Given the description of an element on the screen output the (x, y) to click on. 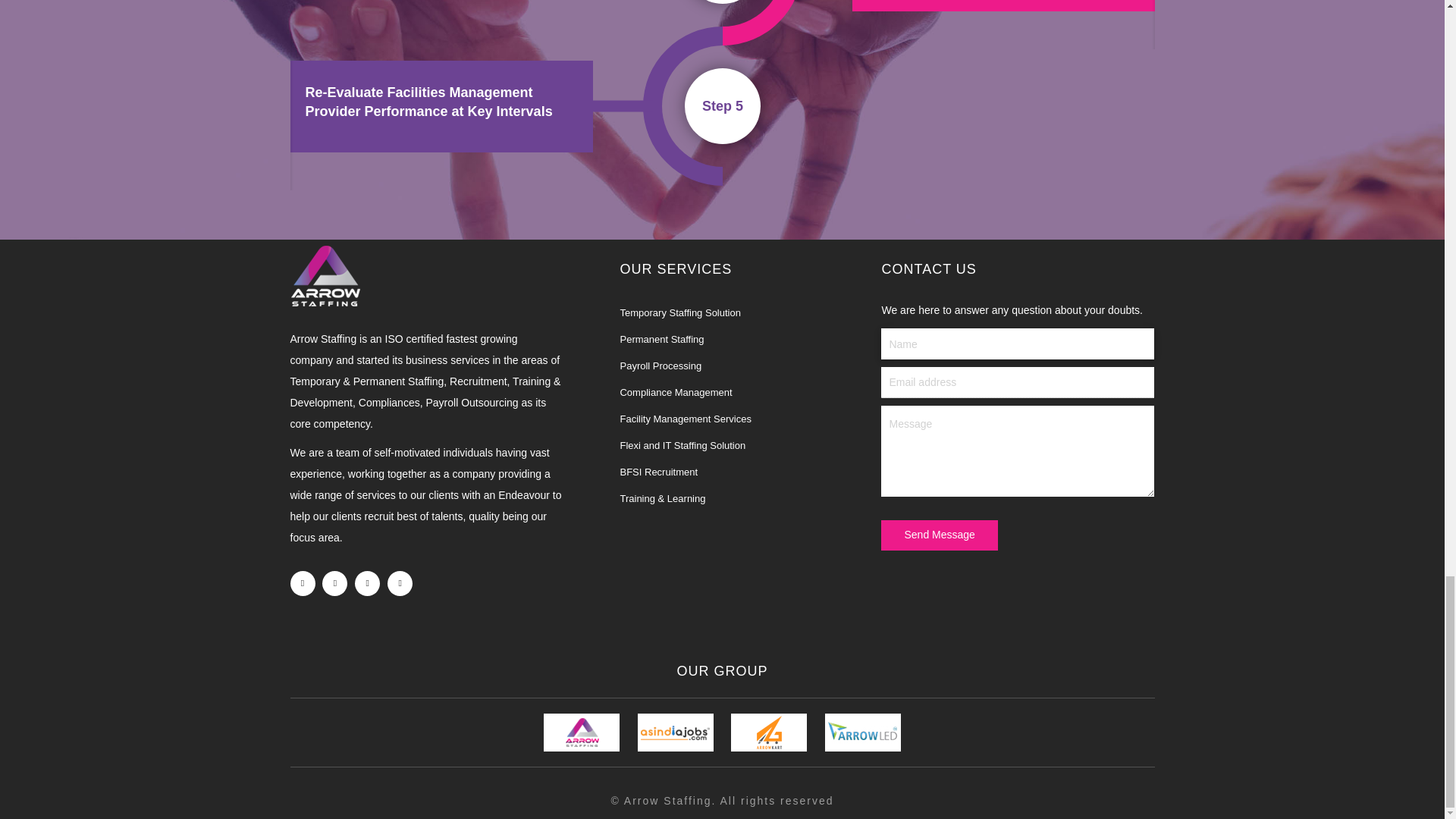
Flexi and IT Staffing Solution (682, 445)
Payroll Processing (660, 365)
Temporary Staffing Solution (679, 312)
Permanent Staffing (661, 338)
BFSI Recruitment (658, 471)
Facility Management Services (685, 419)
Compliance Management (676, 392)
Send Message (938, 535)
